Given the description of an element on the screen output the (x, y) to click on. 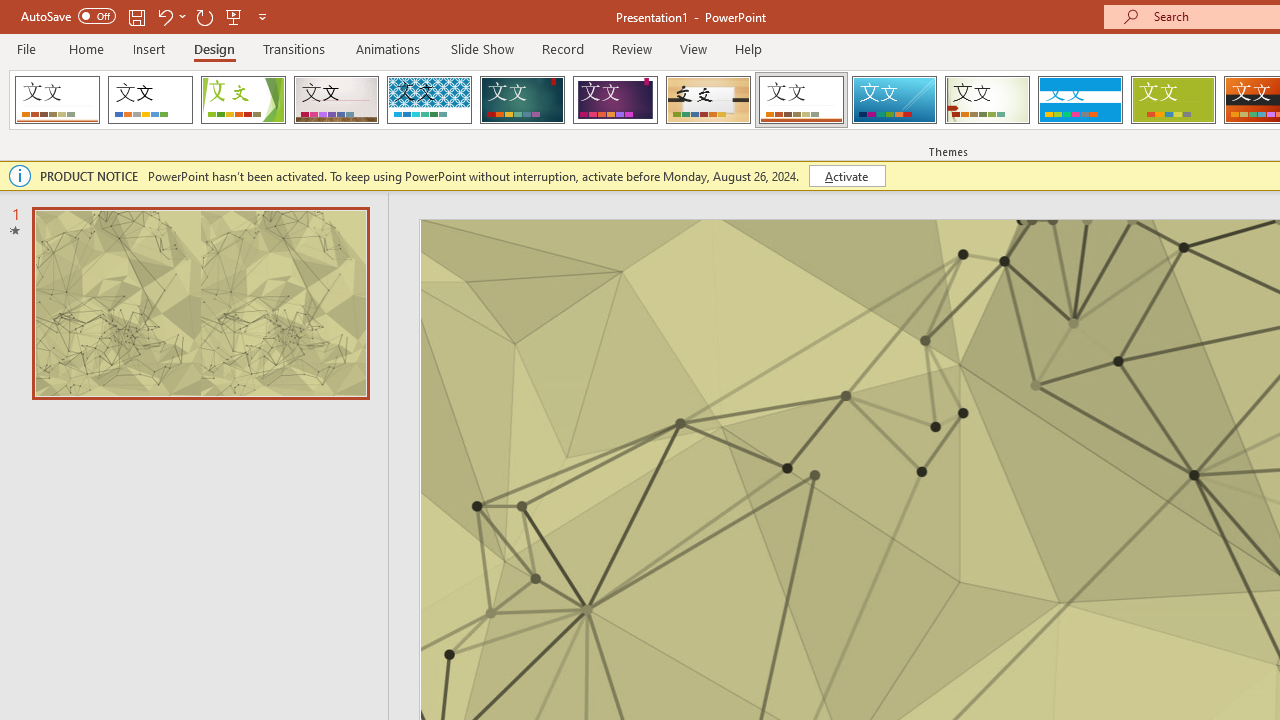
Ion Boardroom (615, 100)
Activate (846, 175)
Wisp (987, 100)
Ion (522, 100)
